Given the description of an element on the screen output the (x, y) to click on. 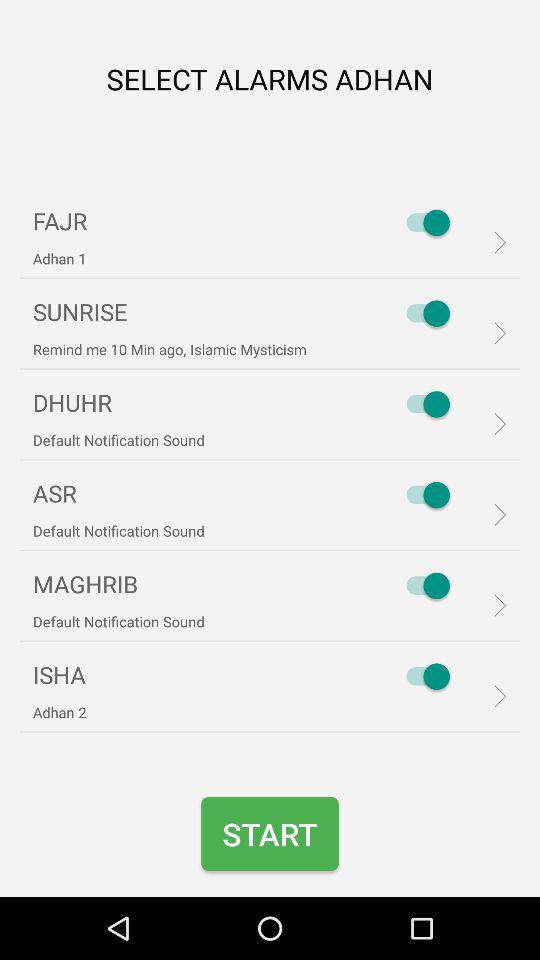
side button (423, 313)
